Given the description of an element on the screen output the (x, y) to click on. 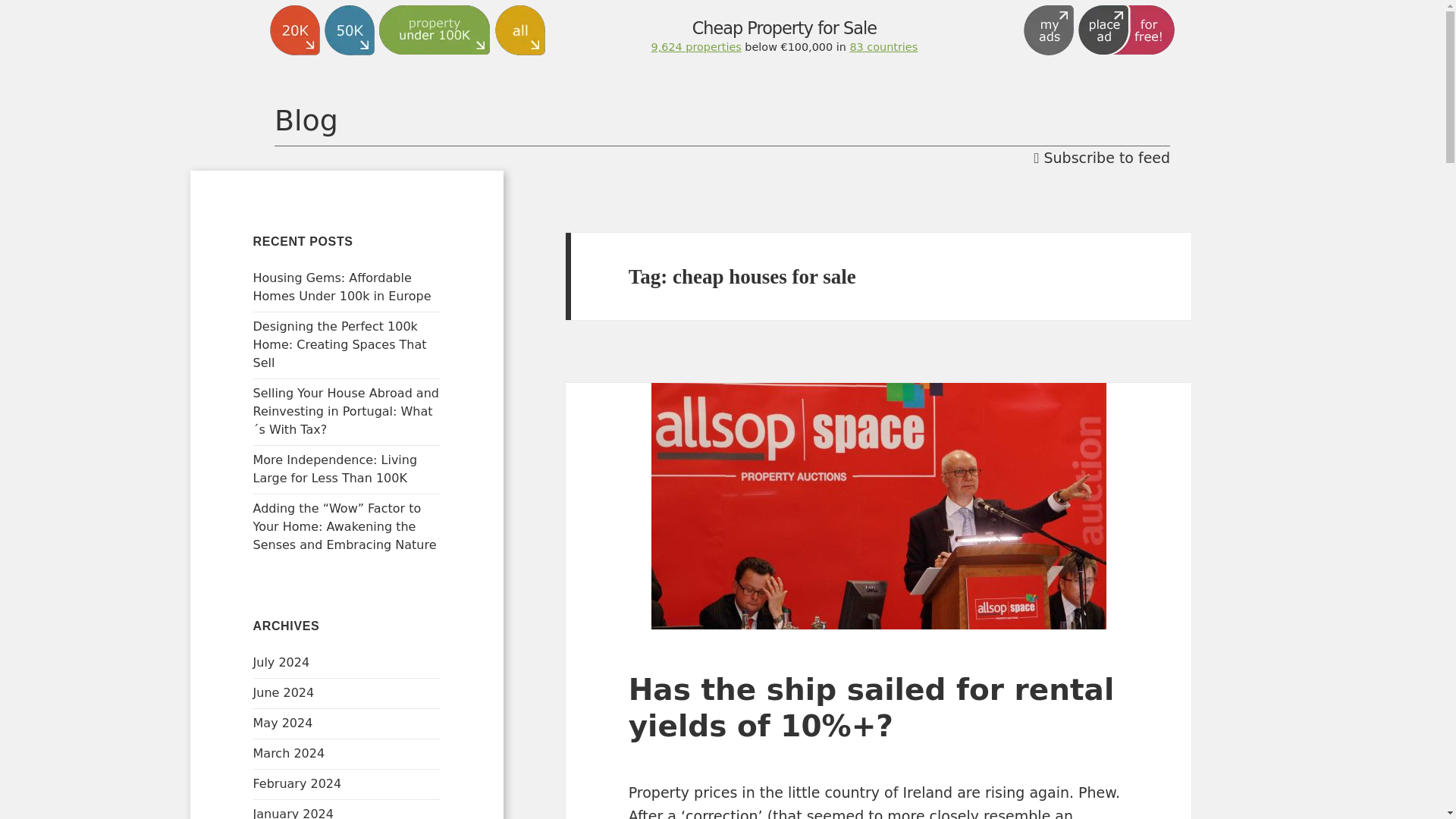
Blog (722, 121)
propertyunder100k.com (369, 244)
83 countries (882, 46)
July 2024 (281, 662)
March 2024 (288, 753)
June 2024 (283, 692)
February 2024 (297, 783)
 Subscribe to feed (1101, 158)
More Independence: Living Large for Less Than 100K (335, 468)
Housing Gems: Affordable Homes Under 100k in Europe (341, 287)
January 2024 (293, 812)
Designing the Perfect 100k Home: Creating Spaces That Sell (339, 344)
9,624 properties (695, 46)
May 2024 (283, 722)
